Given the description of an element on the screen output the (x, y) to click on. 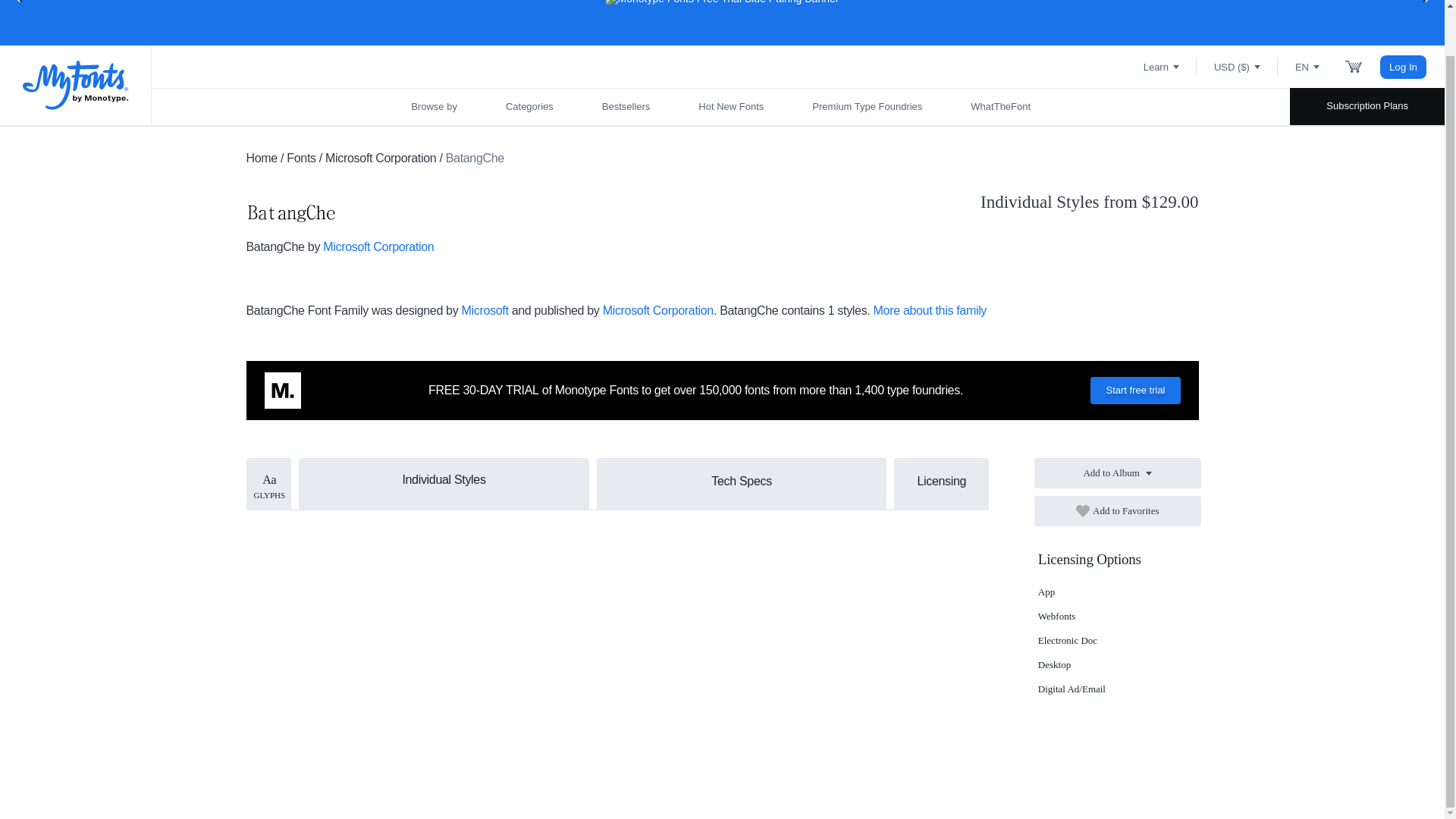
Tech Specs (741, 480)
Skip to content (72, 2)
Licensing (940, 480)
Glyphs (268, 483)
Log In (1403, 65)
Individual Styles (443, 477)
MyFonts (75, 85)
